Given the description of an element on the screen output the (x, y) to click on. 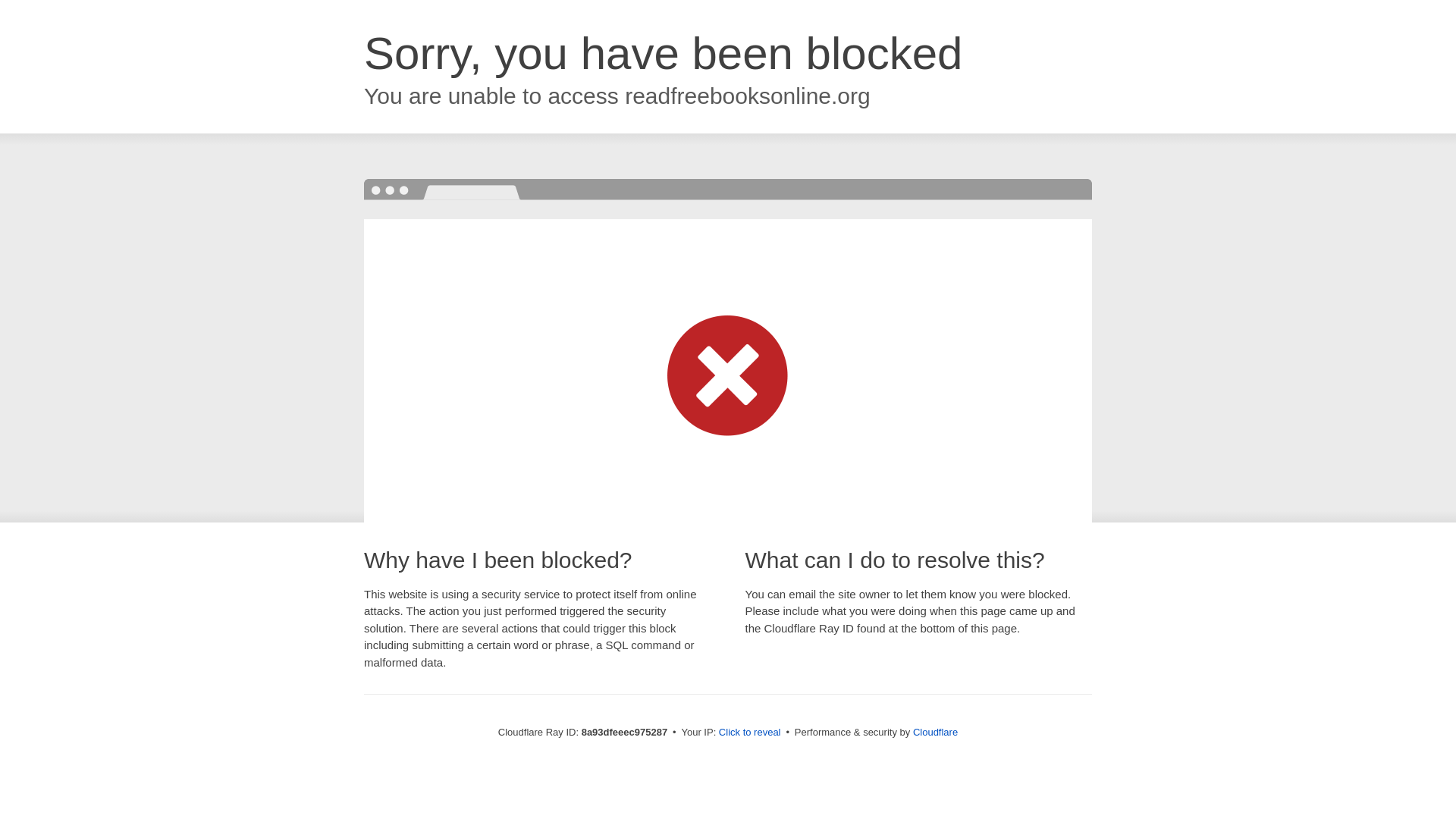
Cloudflare (935, 731)
Click to reveal (749, 732)
